Given the description of an element on the screen output the (x, y) to click on. 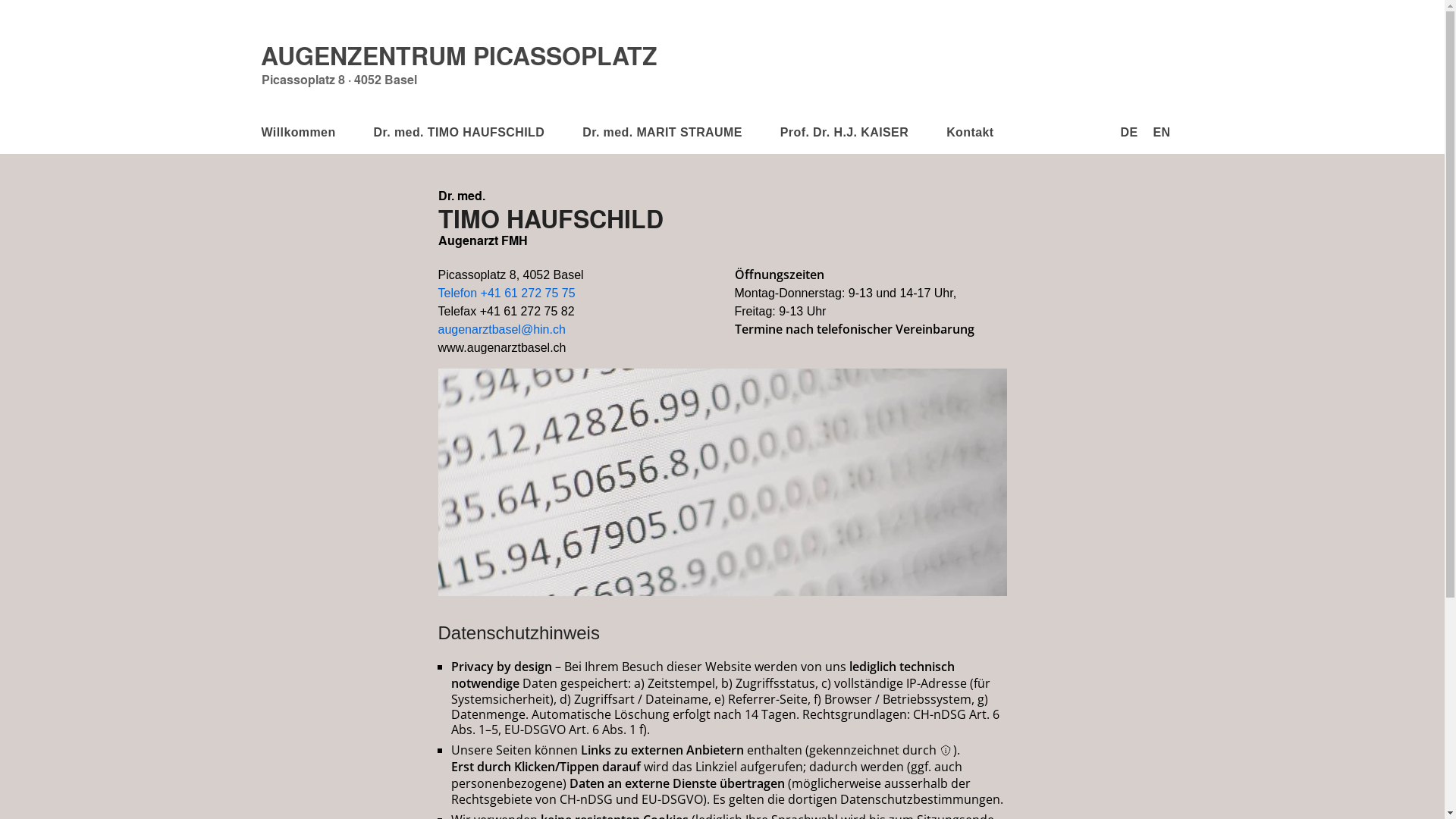
DE Element type: text (1128, 132)
Prof. Dr. H.J. KAISER Element type: text (844, 132)
AUGENZENTRUM PICASSOPLATZ Element type: text (458, 54)
Dr. med. MARIT STRAUME Element type: text (662, 132)
augenarztbasel@hin.ch Element type: text (501, 329)
Zum Inhalt springen Element type: text (241, 21)
Telefon +41 61 272 75 75 Element type: text (506, 292)
Willkommen Element type: text (297, 132)
Dr. med. TIMO HAUFSCHILD Element type: text (459, 132)
EN Element type: text (1161, 132)
Kontakt Element type: text (969, 132)
